Given the description of an element on the screen output the (x, y) to click on. 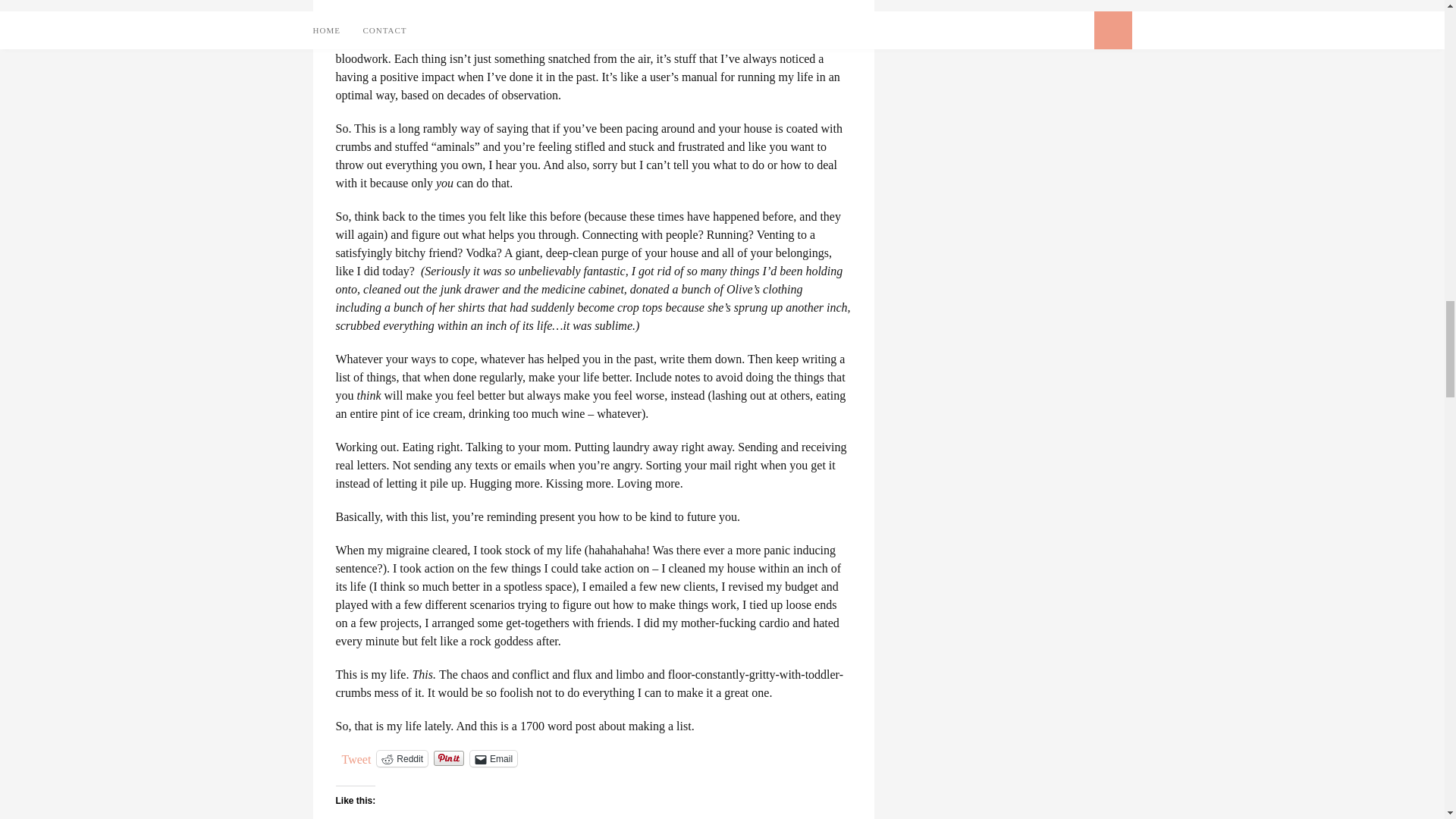
Click to share on Reddit (402, 758)
Click to email a link to a friend (493, 758)
Email (493, 758)
Tweet (355, 757)
Reddit (402, 758)
